Given the description of an element on the screen output the (x, y) to click on. 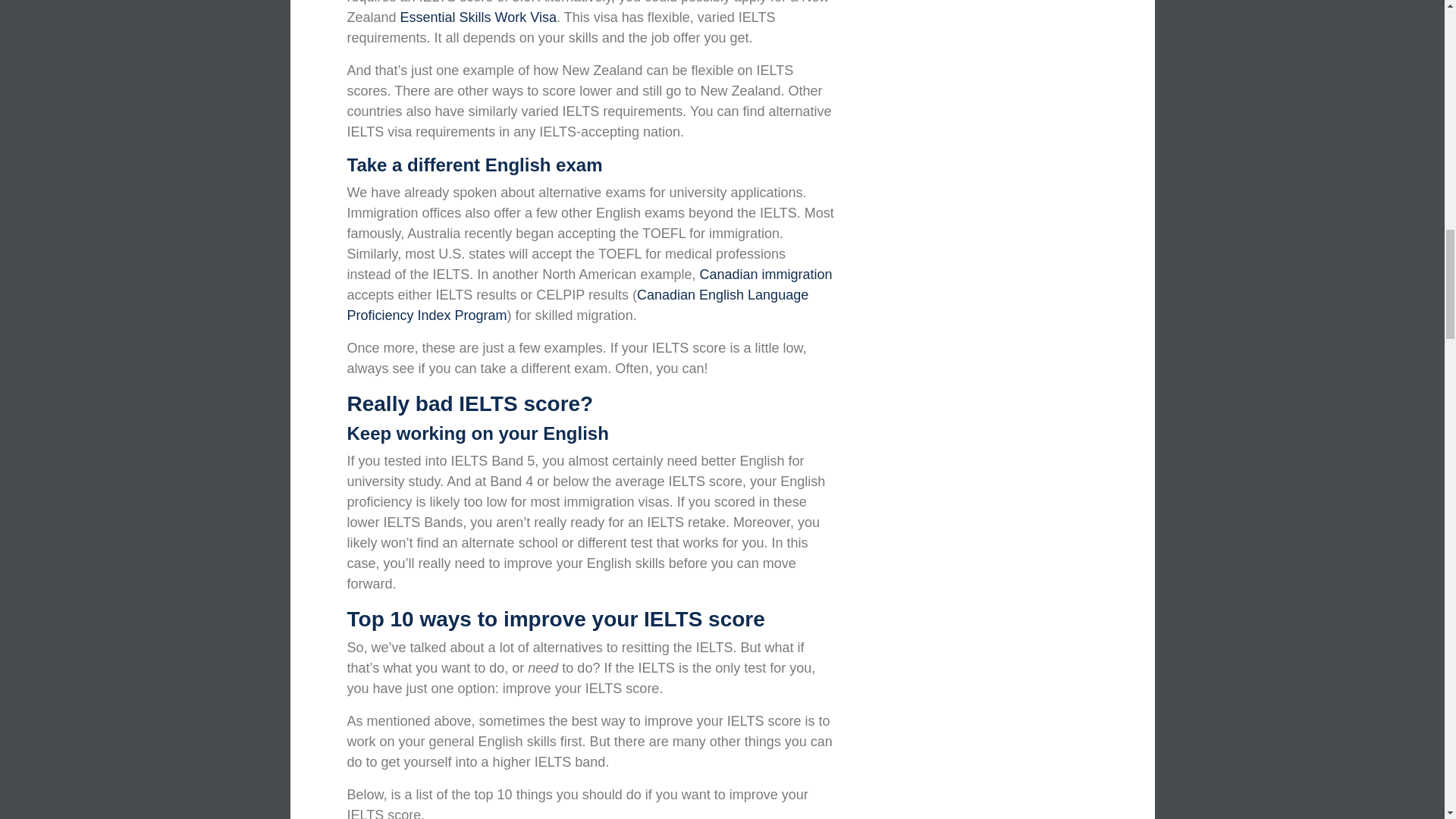
Essential Skills Work Visa (478, 17)
